Given the description of an element on the screen output the (x, y) to click on. 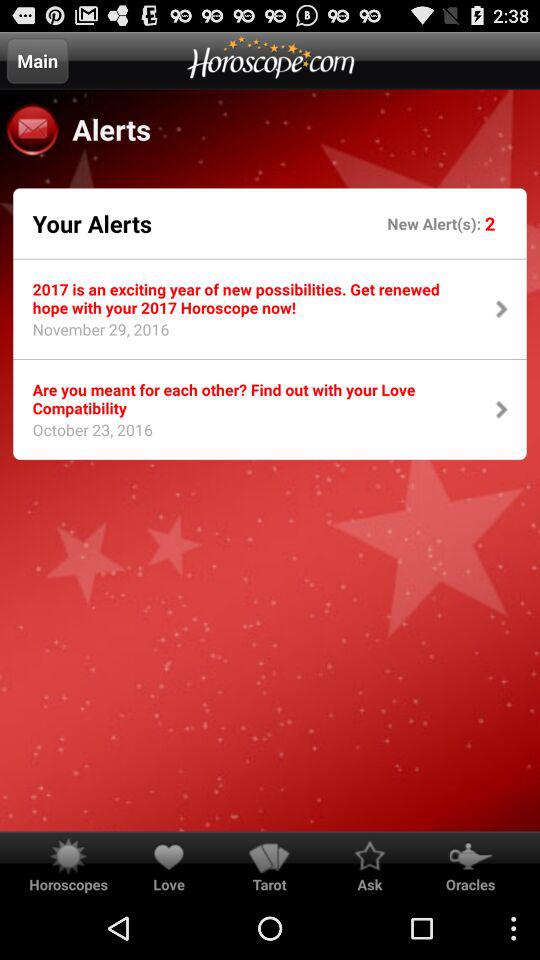
press item next to new alert(s):  item (91, 223)
